Given the description of an element on the screen output the (x, y) to click on. 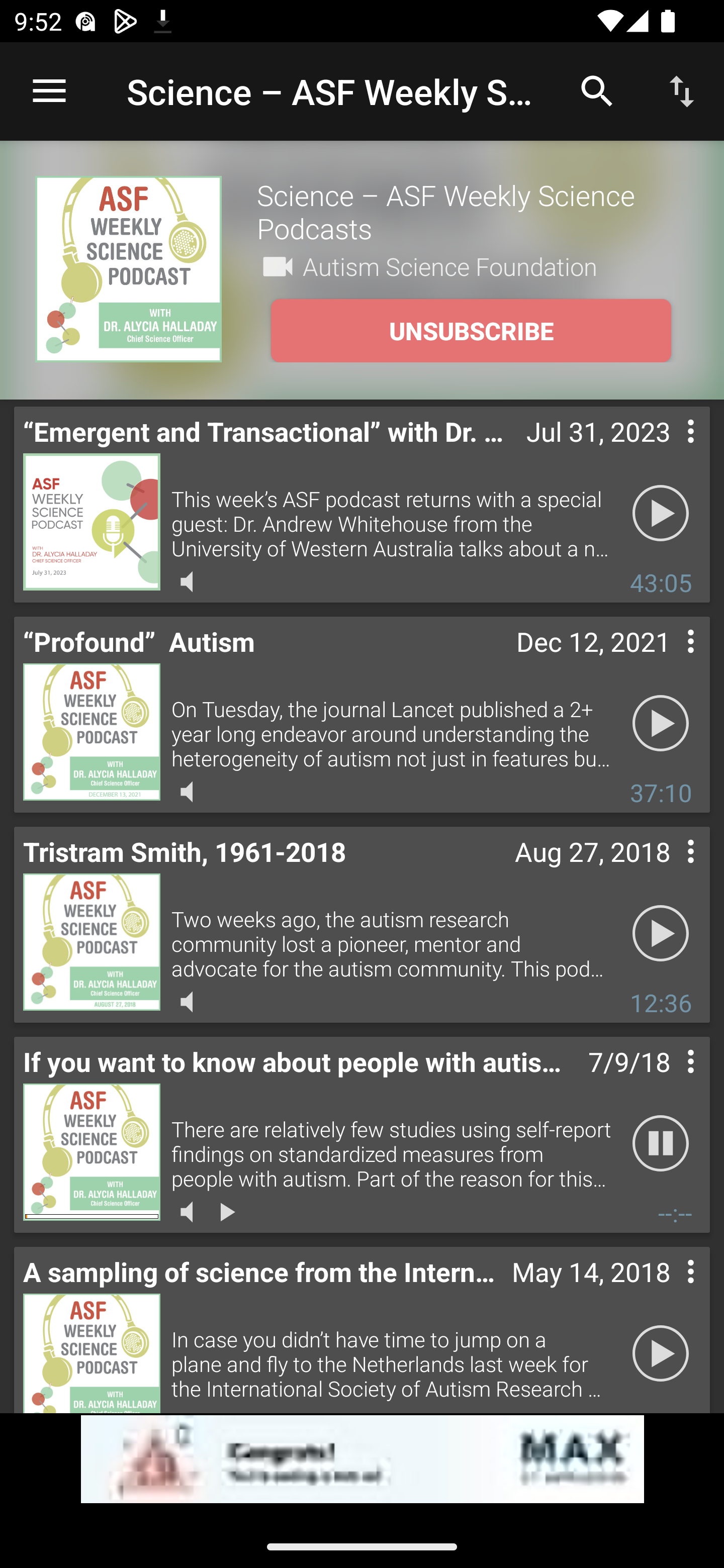
Open navigation sidebar (49, 91)
Search (597, 90)
Sort (681, 90)
UNSUBSCRIBE (470, 330)
Contextual menu (668, 451)
Play (660, 513)
Contextual menu (668, 661)
Play (660, 723)
Contextual menu (668, 870)
Play (660, 933)
Contextual menu (668, 1080)
Pause (660, 1143)
Contextual menu (668, 1290)
Play (660, 1353)
app-monetization (362, 1459)
(i) (14, 1489)
